Given the description of an element on the screen output the (x, y) to click on. 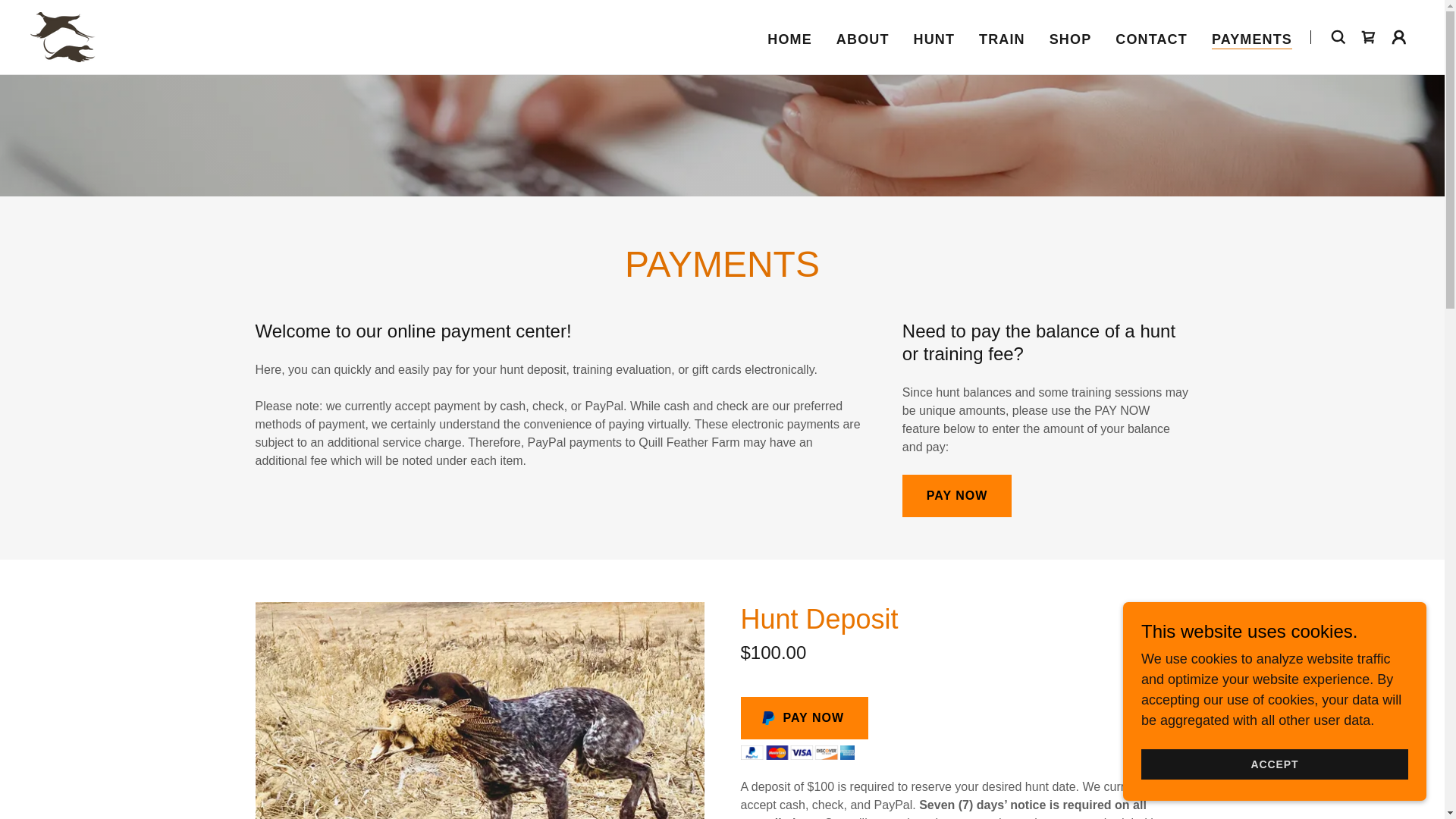
SHOP (1070, 39)
HOME (789, 39)
QUILL FEATHER FARM (63, 36)
TRAIN (1001, 39)
CONTACT (1151, 39)
PAYMENTS (1251, 39)
HUNT (933, 39)
ABOUT (862, 39)
